Given the description of an element on the screen output the (x, y) to click on. 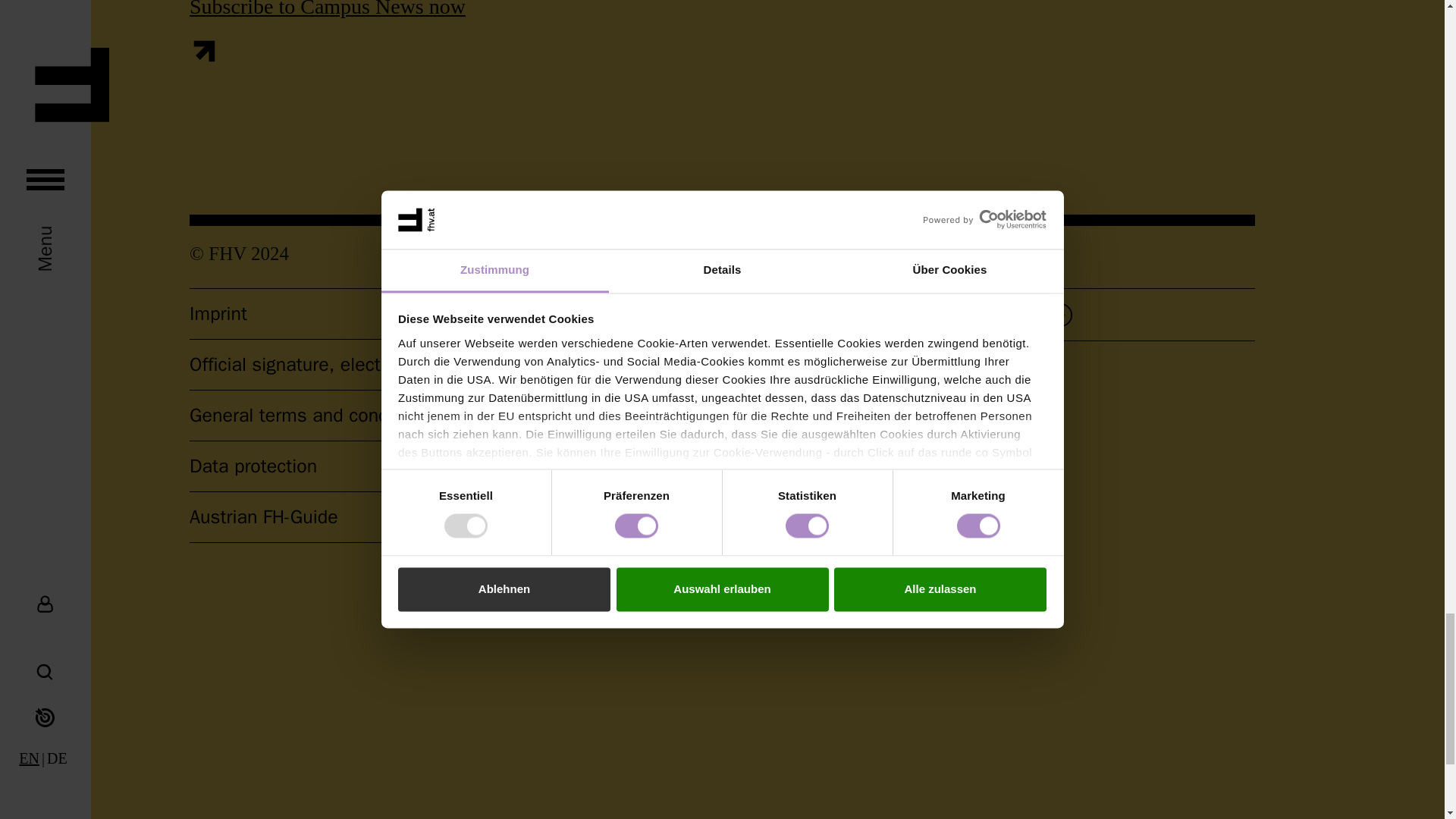
General terms and conditions (311, 414)
Data protection (253, 465)
